Given the description of an element on the screen output the (x, y) to click on. 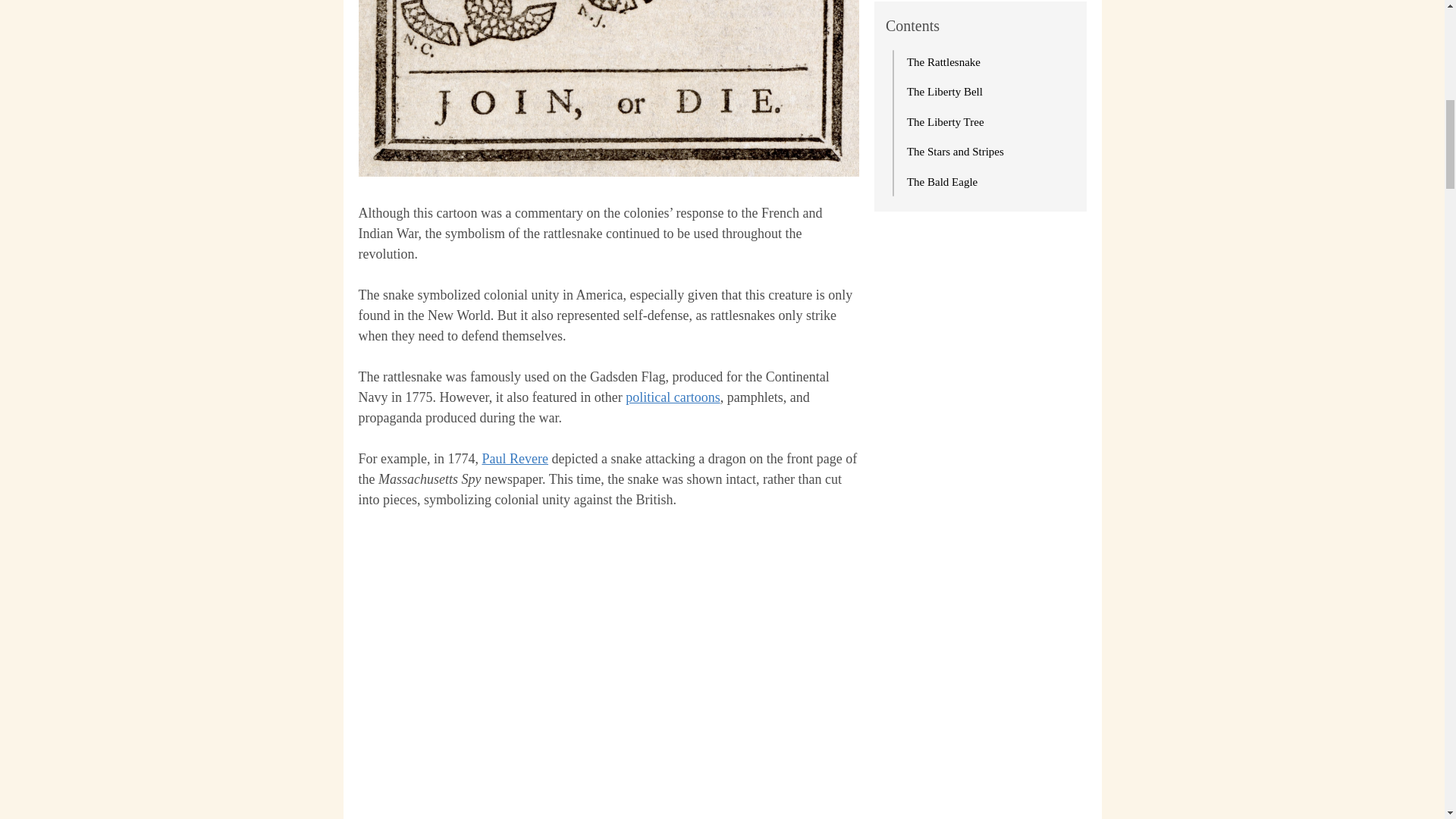
Scroll back to top (1406, 720)
